Given the description of an element on the screen output the (x, y) to click on. 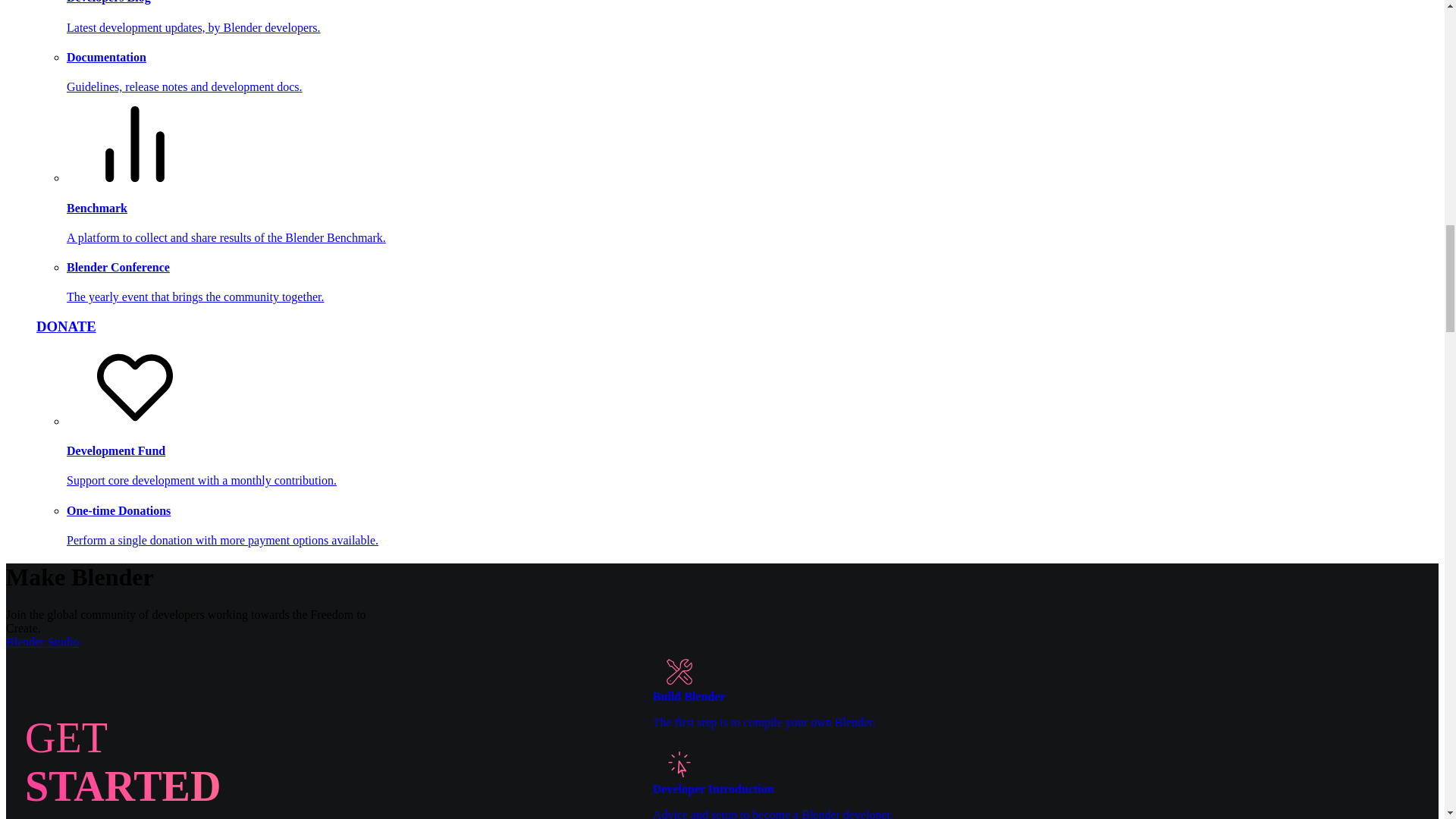
DONATE (1035, 689)
Blender Studio (464, 326)
